Given the description of an element on the screen output the (x, y) to click on. 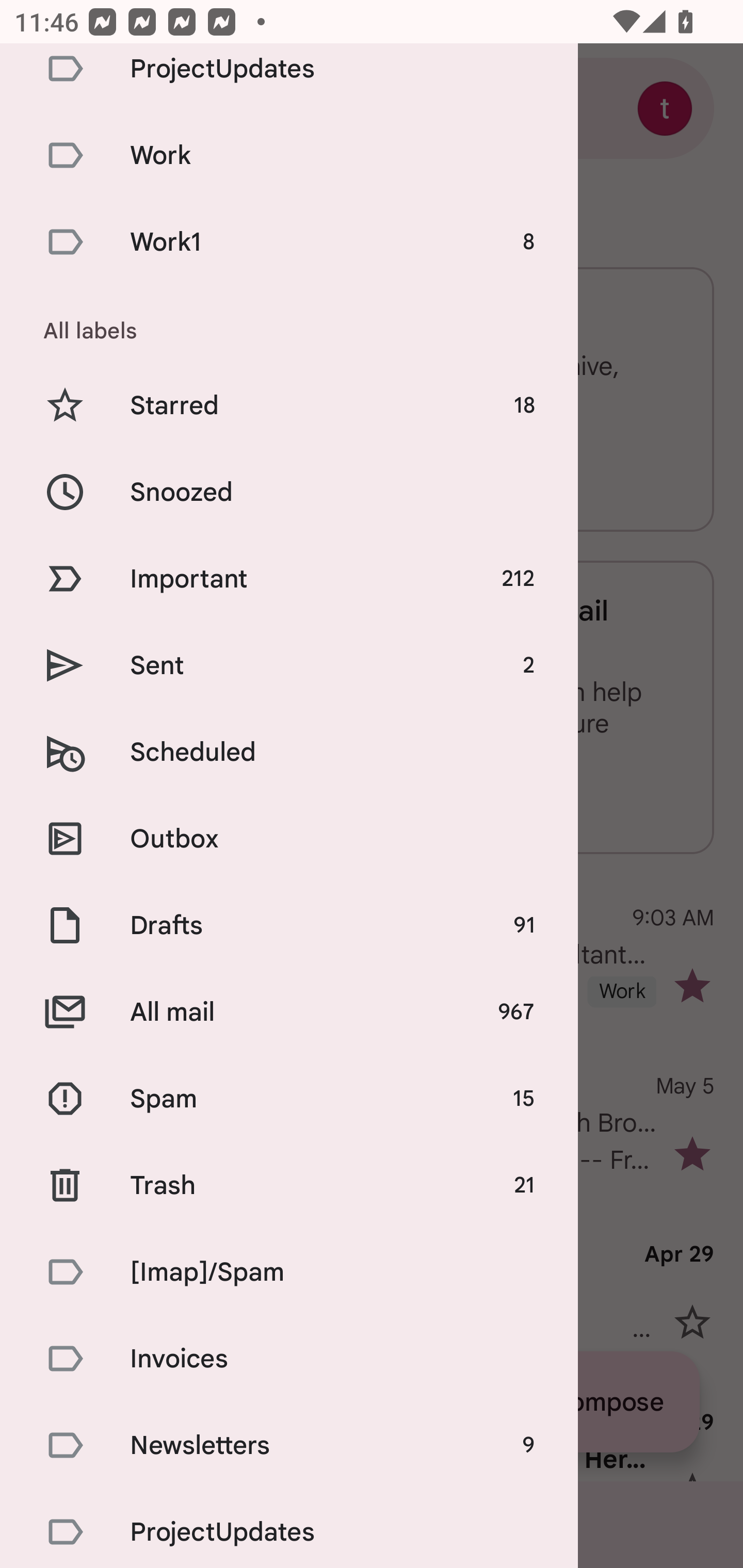
ProjectUpdates (289, 77)
Work (289, 155)
Work1 8 (289, 242)
Starred 18 (289, 405)
Snoozed (289, 491)
Important 212 (289, 578)
Sent 2 (289, 665)
Scheduled (289, 751)
Outbox (289, 837)
Drafts 91 (289, 925)
All mail 967 (289, 1012)
Spam 15 (289, 1098)
Trash 21 (289, 1185)
[Imap]/Spam (289, 1272)
Invoices (289, 1358)
Newsletters 9 (289, 1444)
ProjectUpdates (289, 1528)
